Given the description of an element on the screen output the (x, y) to click on. 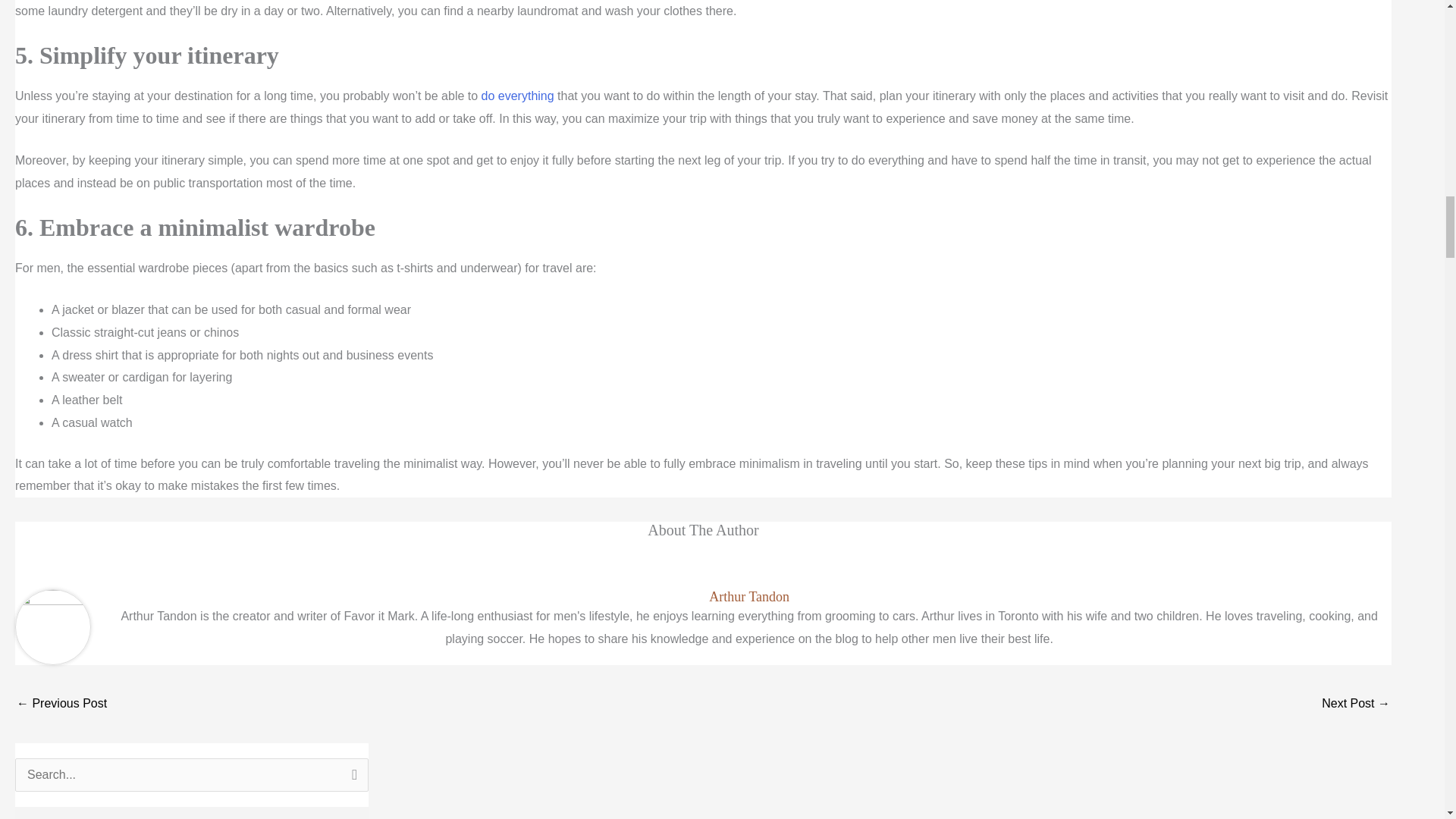
Men and Cars: Which Models Are the Best for Men? (1356, 705)
Arthur Tandon (748, 596)
Woodworking: A Potential Investment and Hobby for Life? (61, 705)
do everything (517, 95)
